Given the description of an element on the screen output the (x, y) to click on. 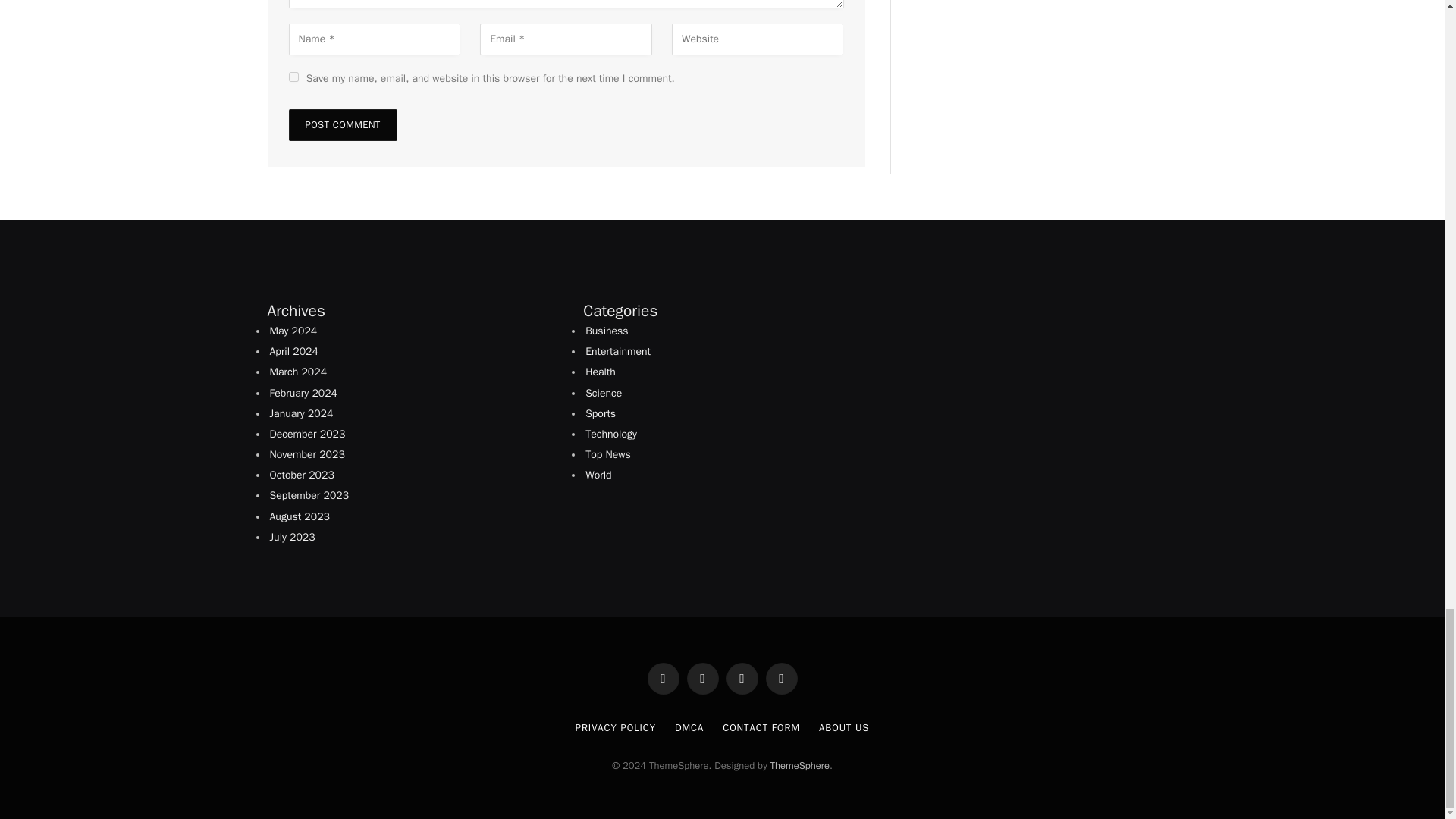
Post Comment (342, 124)
yes (293, 76)
